Given the description of an element on the screen output the (x, y) to click on. 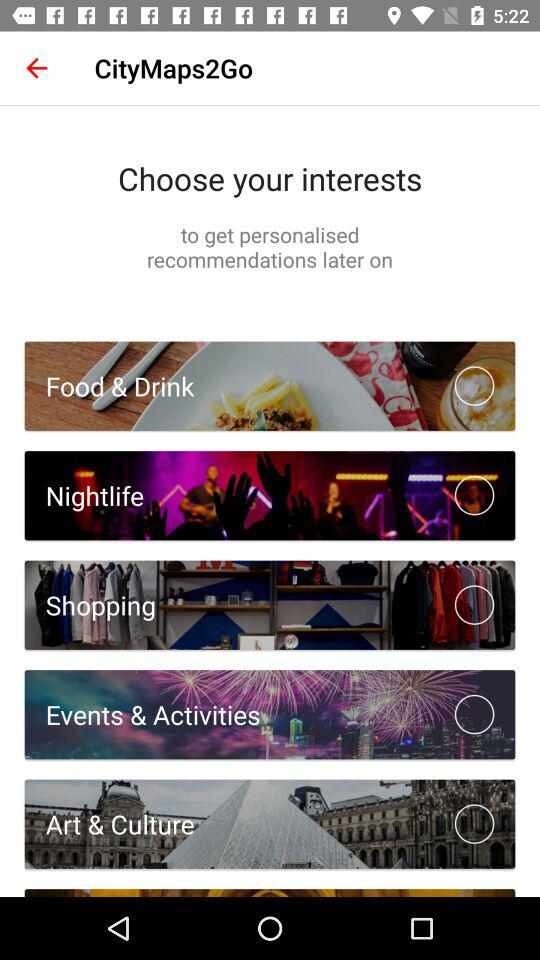
flip to choose your interests icon (270, 178)
